Given the description of an element on the screen output the (x, y) to click on. 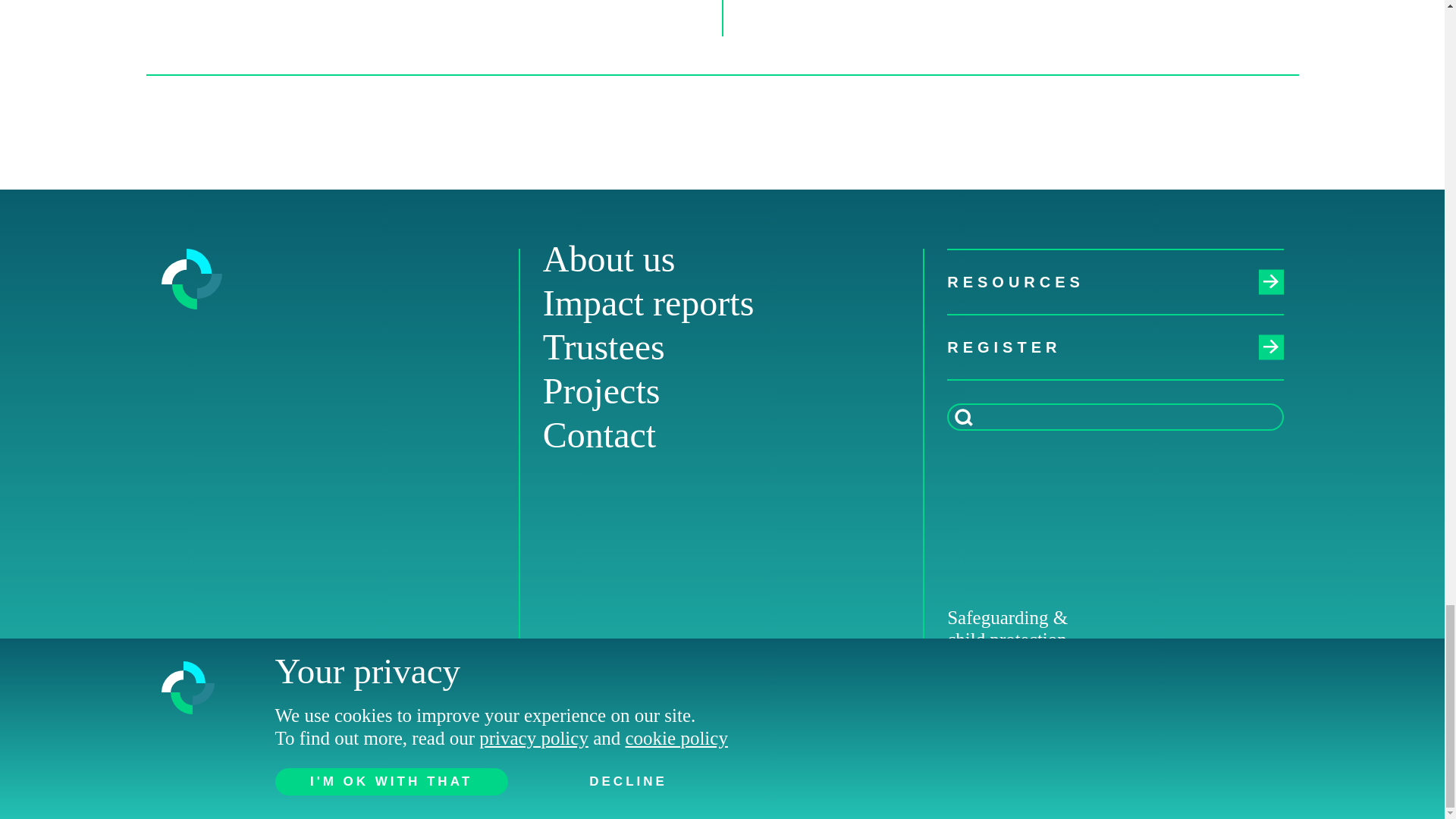
Search (963, 417)
Search (963, 417)
